Given the description of an element on the screen output the (x, y) to click on. 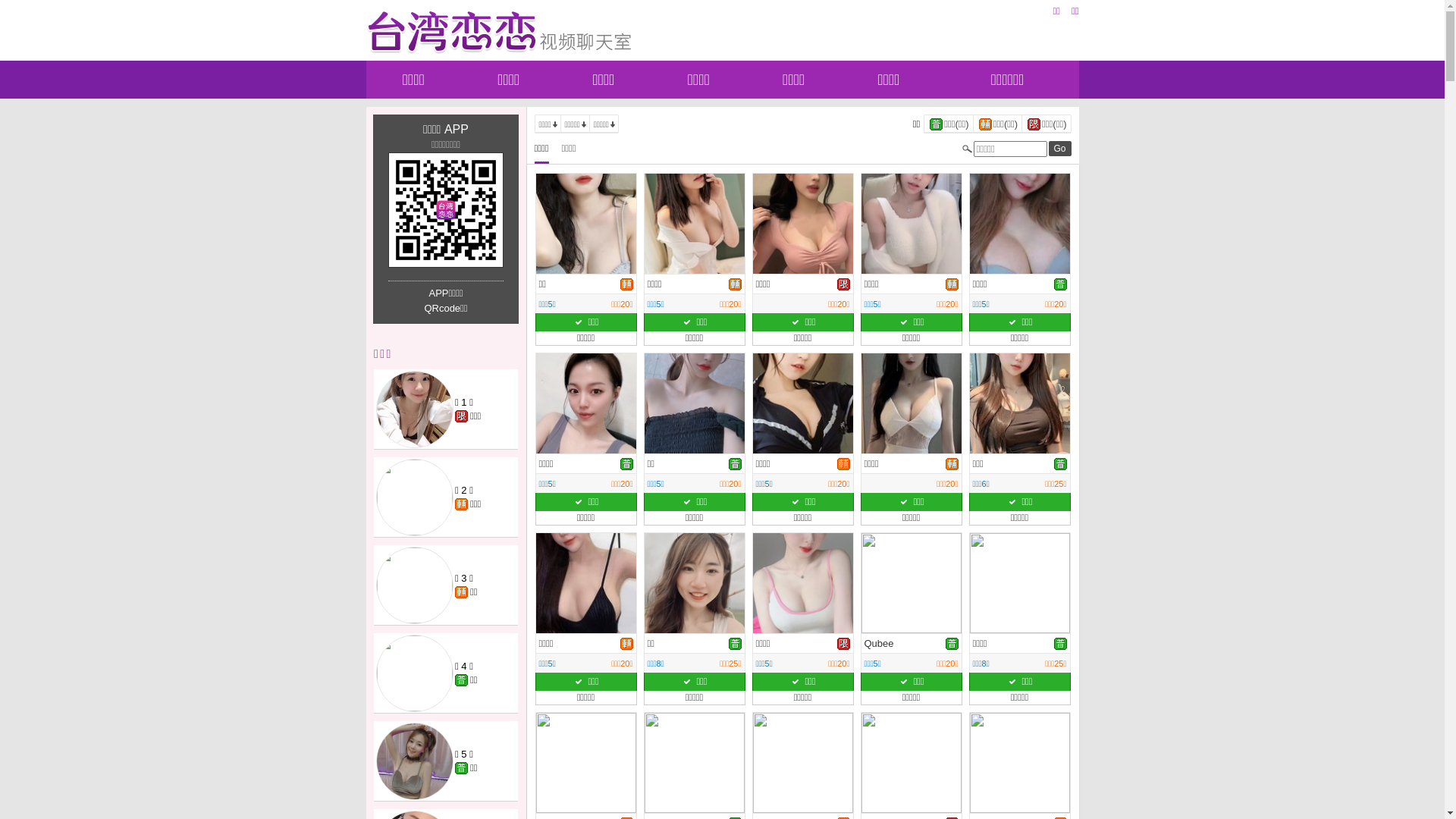
Qubee Element type: text (879, 642)
